Given the description of an element on the screen output the (x, y) to click on. 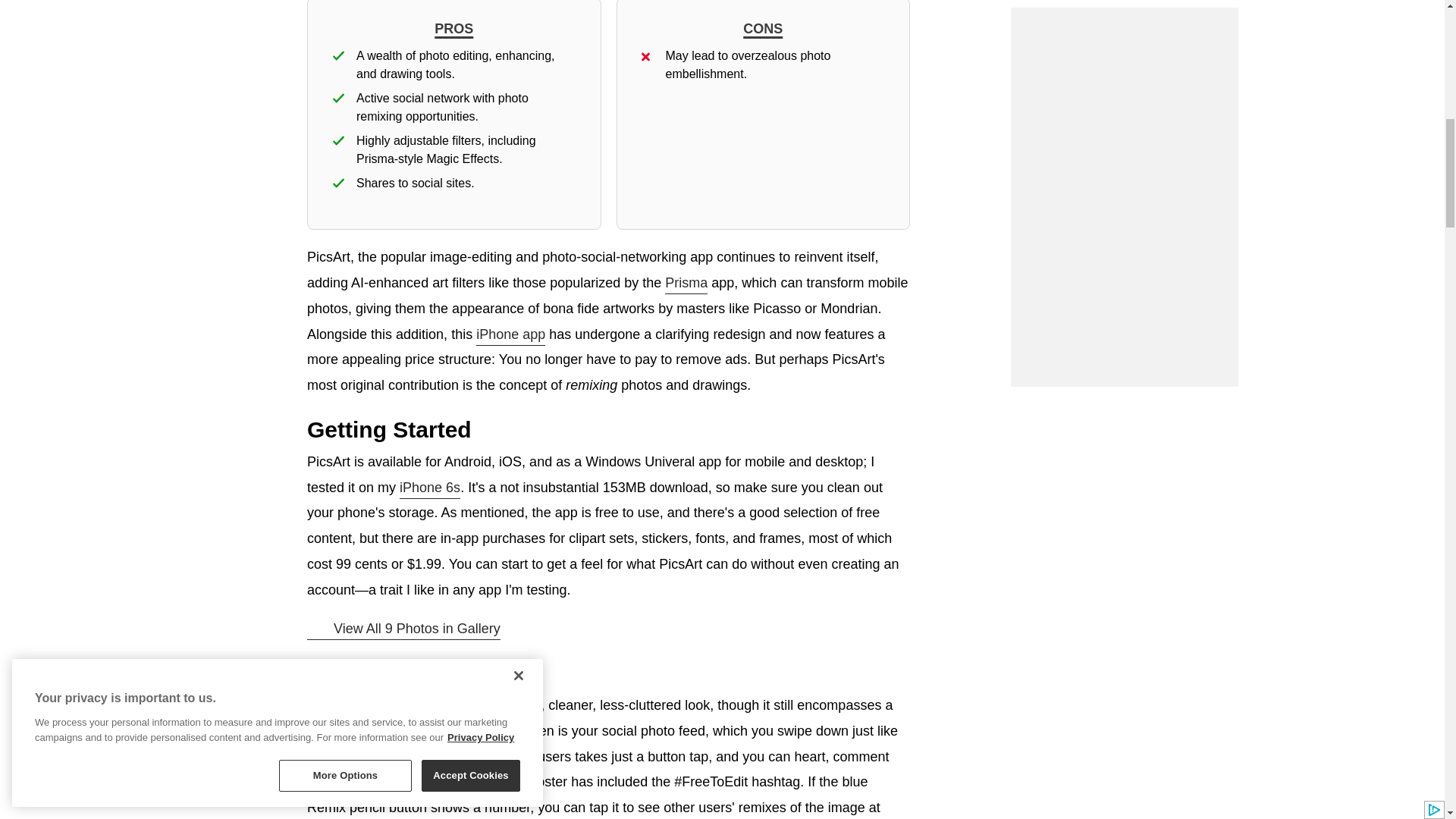
3rd party ad content (1123, 276)
3rd party ad content (1123, 90)
